Given the description of an element on the screen output the (x, y) to click on. 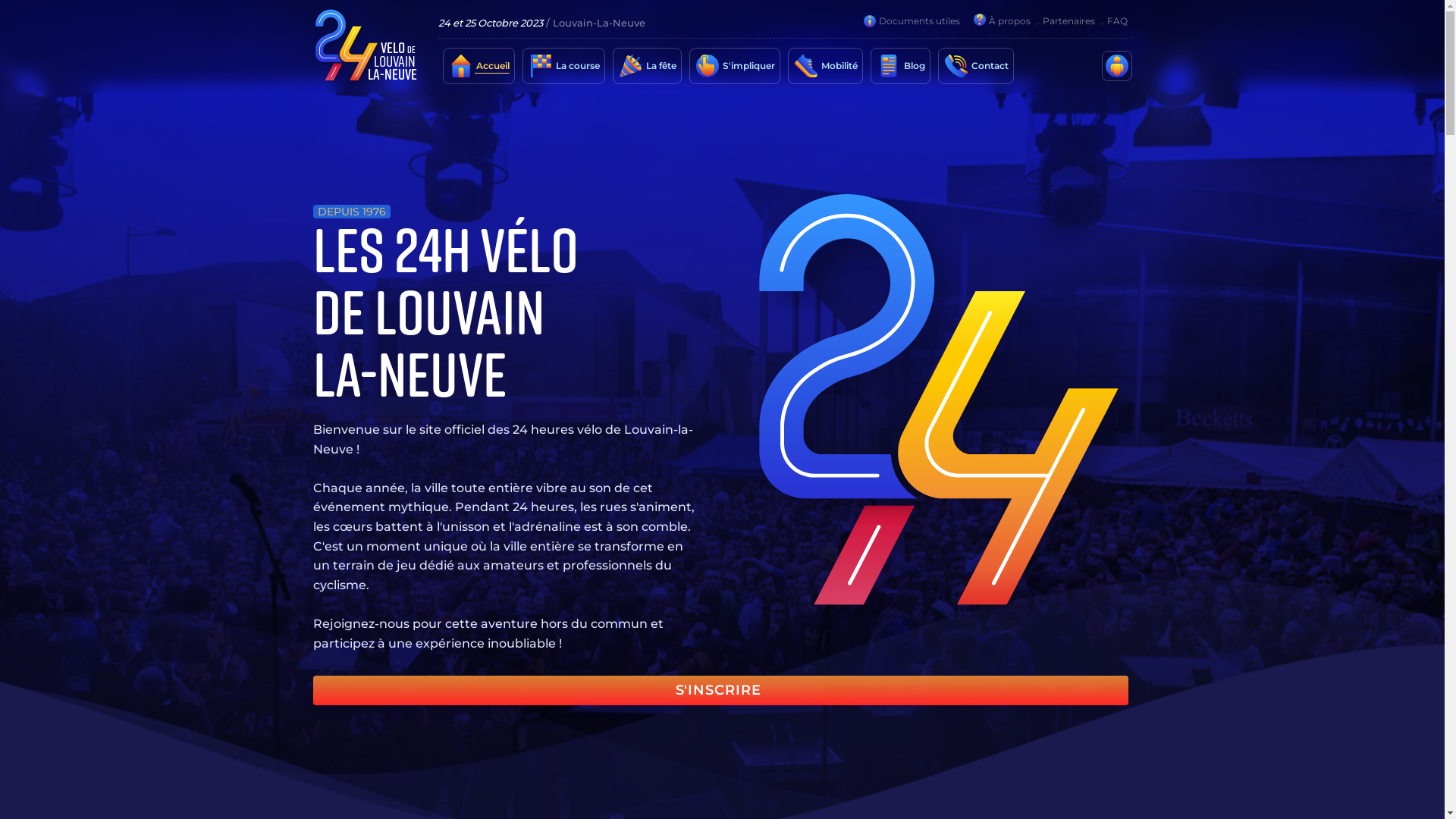
Documents utiles Element type: text (919, 20)
Contact Element type: text (988, 65)
Accueil Element type: text (491, 65)
S'impliquer Element type: text (747, 65)
Partenaires Element type: text (1068, 20)
La course Element type: text (576, 65)
FAQ Element type: text (1115, 20)
Blog Element type: text (913, 65)
S'INSCRIRE  Element type: text (719, 690)
